Given the description of an element on the screen output the (x, y) to click on. 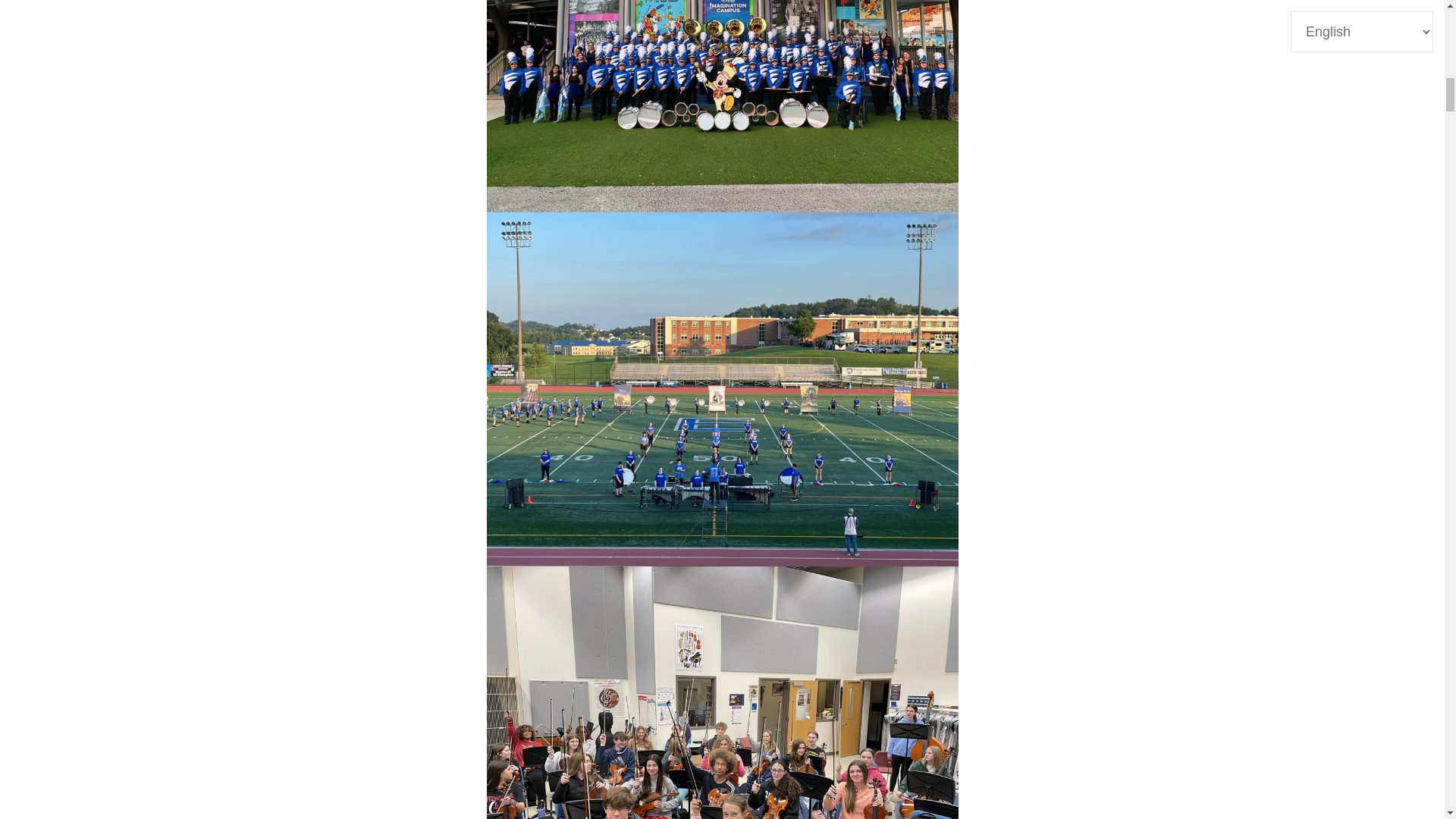
CombinedDisneyOrchestra2023B (722, 692)
